Given the description of an element on the screen output the (x, y) to click on. 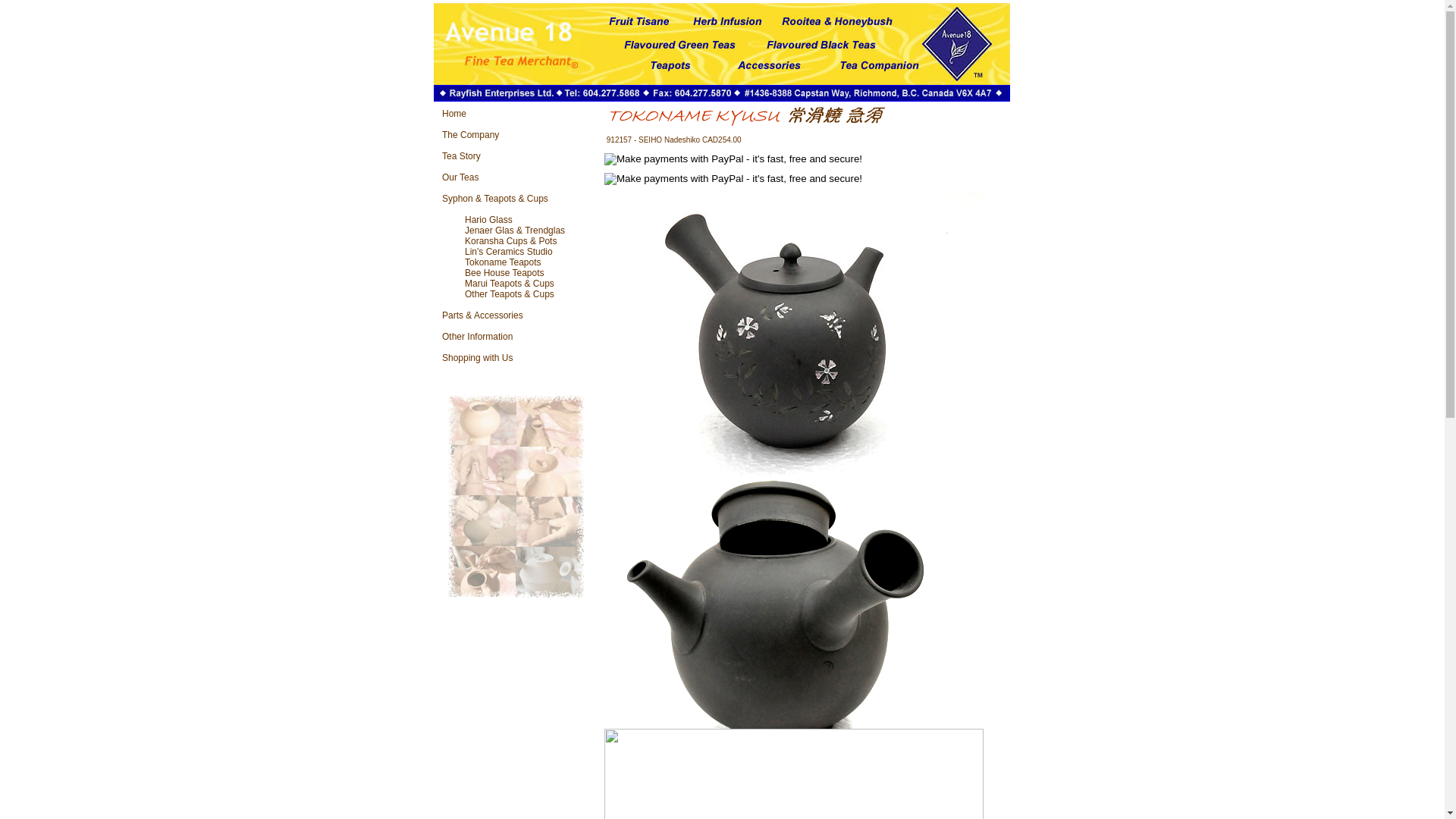
Our Teas Element type: text (460, 177)
Home Element type: text (454, 113)
Other Teapots & Cups Element type: text (509, 293)
Syphon & Teapots & Cups Element type: text (495, 198)
Bee House Teapots Element type: text (504, 272)
Marui Teapots & Cups Element type: text (509, 283)
Shopping with Us Element type: text (477, 357)
The Company Element type: text (470, 134)
Koransha Cups & Pots Element type: text (510, 240)
Tea Story Element type: text (461, 155)
Parts & Accessories Element type: text (482, 315)
Jenaer Glas & Trendglas Element type: text (514, 230)
Lin's Ceramics Studio Element type: text (508, 251)
Other Information Element type: text (477, 336)
Tokoname Teapots Element type: text (502, 262)
Hario Glass Element type: text (488, 219)
